Given the description of an element on the screen output the (x, y) to click on. 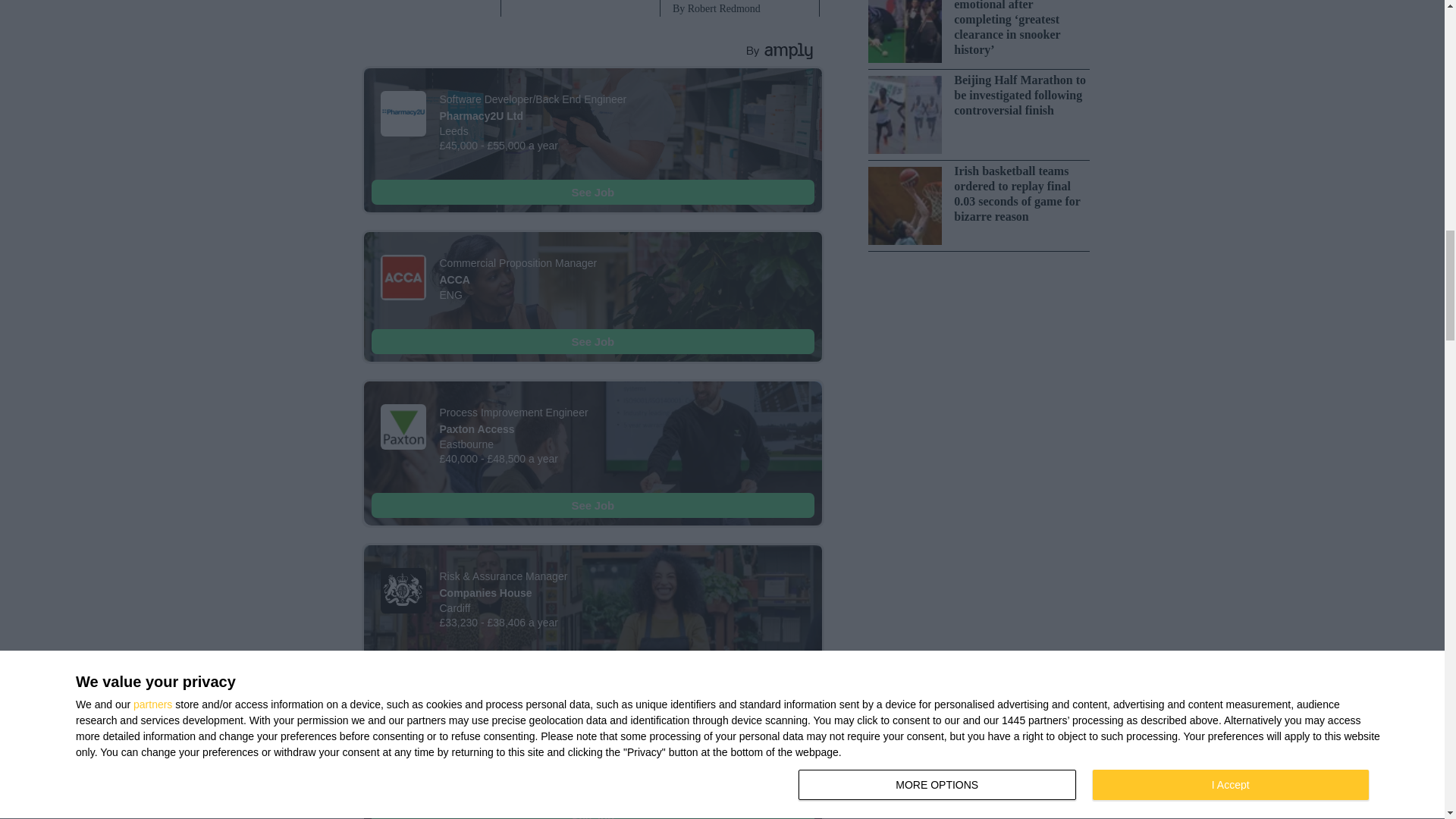
SportsJOE (420, 0)
Michael Corry (580, 0)
